Given the description of an element on the screen output the (x, y) to click on. 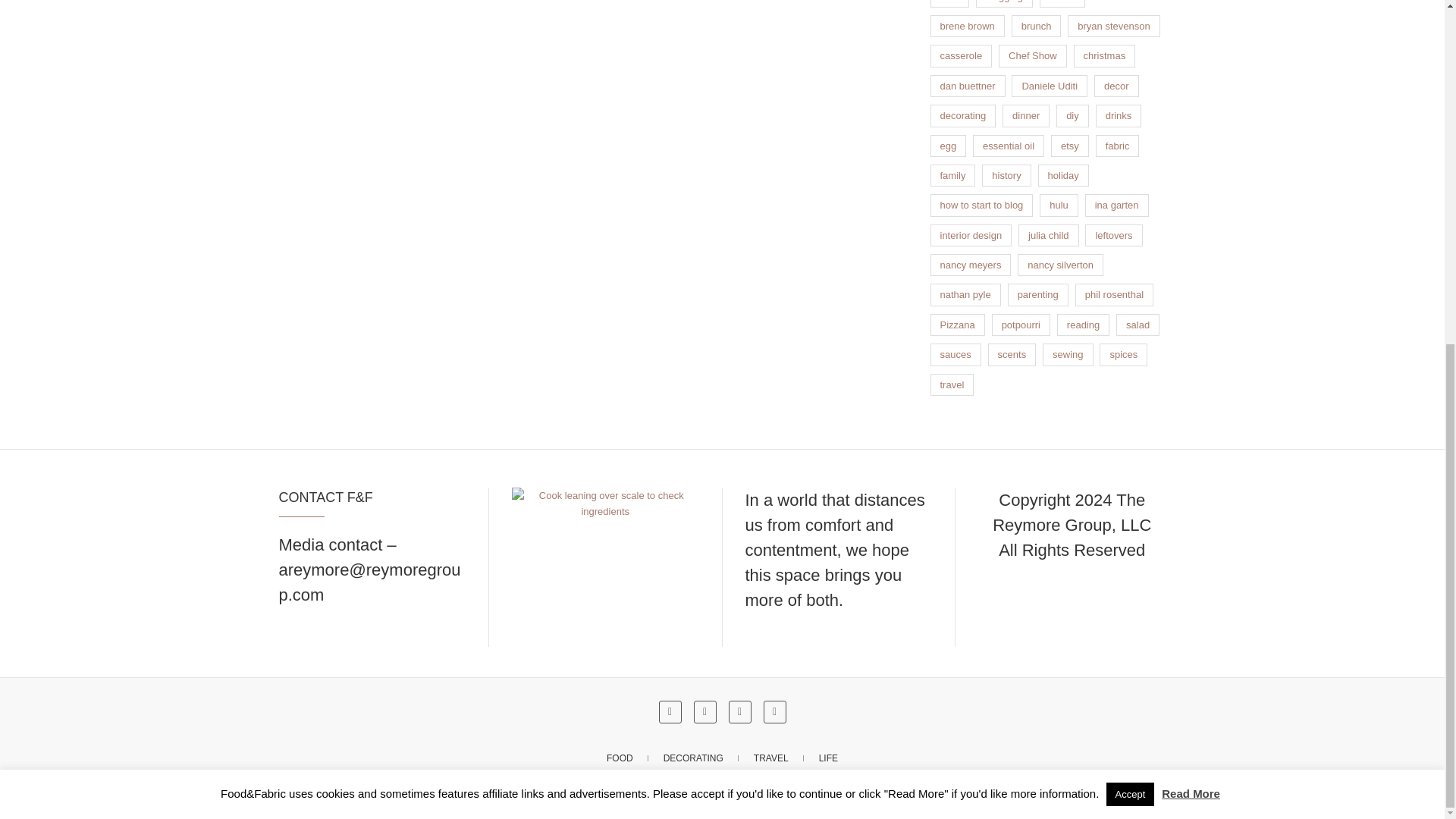
dan buettner (967, 86)
diy (1073, 115)
dinner (1026, 115)
About Us (605, 503)
Theme Freesia (744, 799)
blogging (1003, 3)
essential oil (1007, 145)
drinks (1118, 115)
egg (948, 145)
christmas (1104, 55)
books (1062, 3)
casserole (960, 55)
decorating (962, 115)
brunch (1036, 25)
Chef Show (1032, 55)
